Given the description of an element on the screen output the (x, y) to click on. 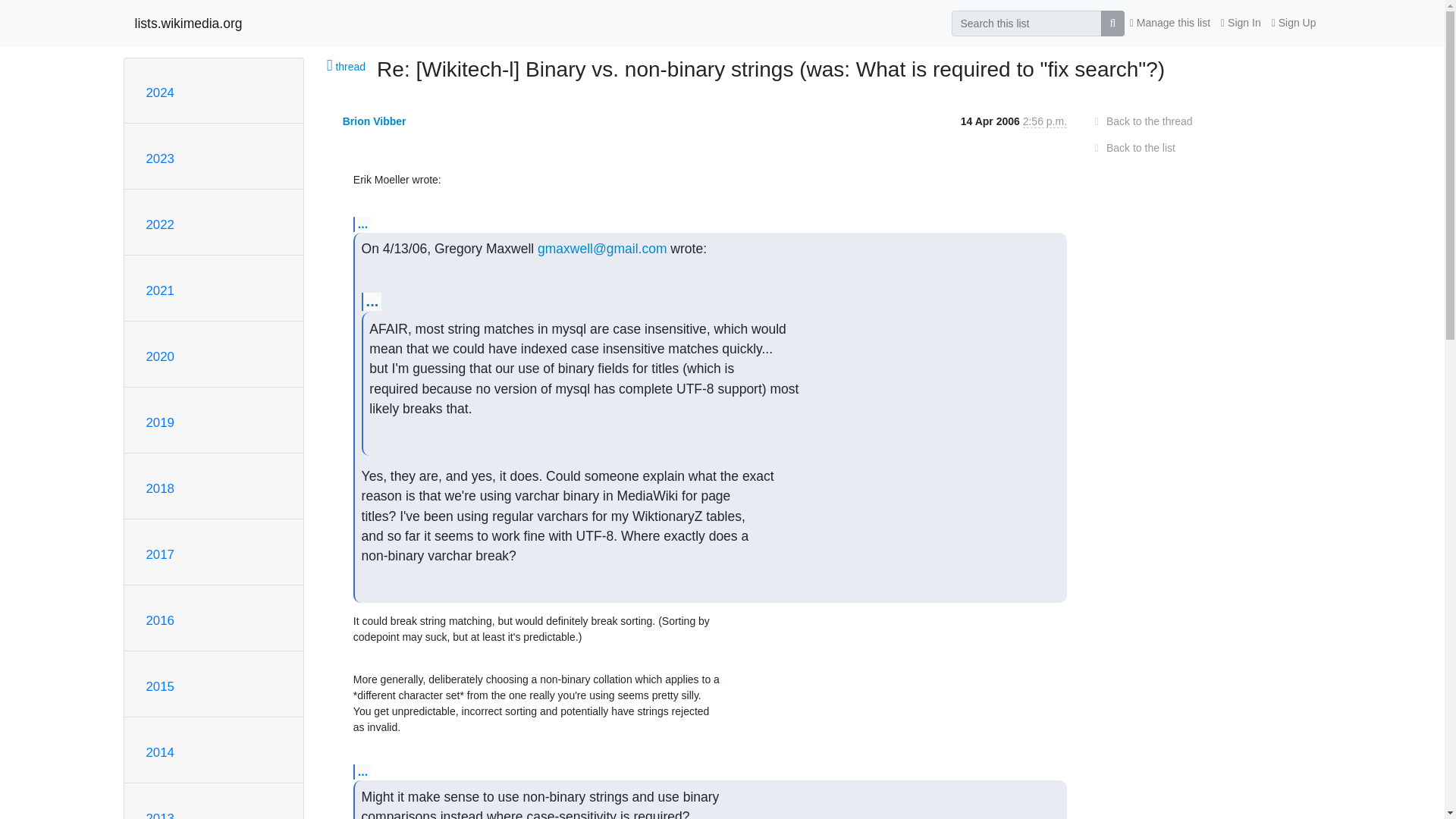
Manage this list (1169, 22)
Sign Up (1294, 22)
See the profile for Brion Vibber (374, 121)
2023 (159, 158)
2022 (159, 224)
Sign In (1240, 22)
Sender's time: April 14, 2006, 12:56 p.m. (1045, 121)
lists.wikimedia.org (189, 22)
2024 (159, 92)
